Given the description of an element on the screen output the (x, y) to click on. 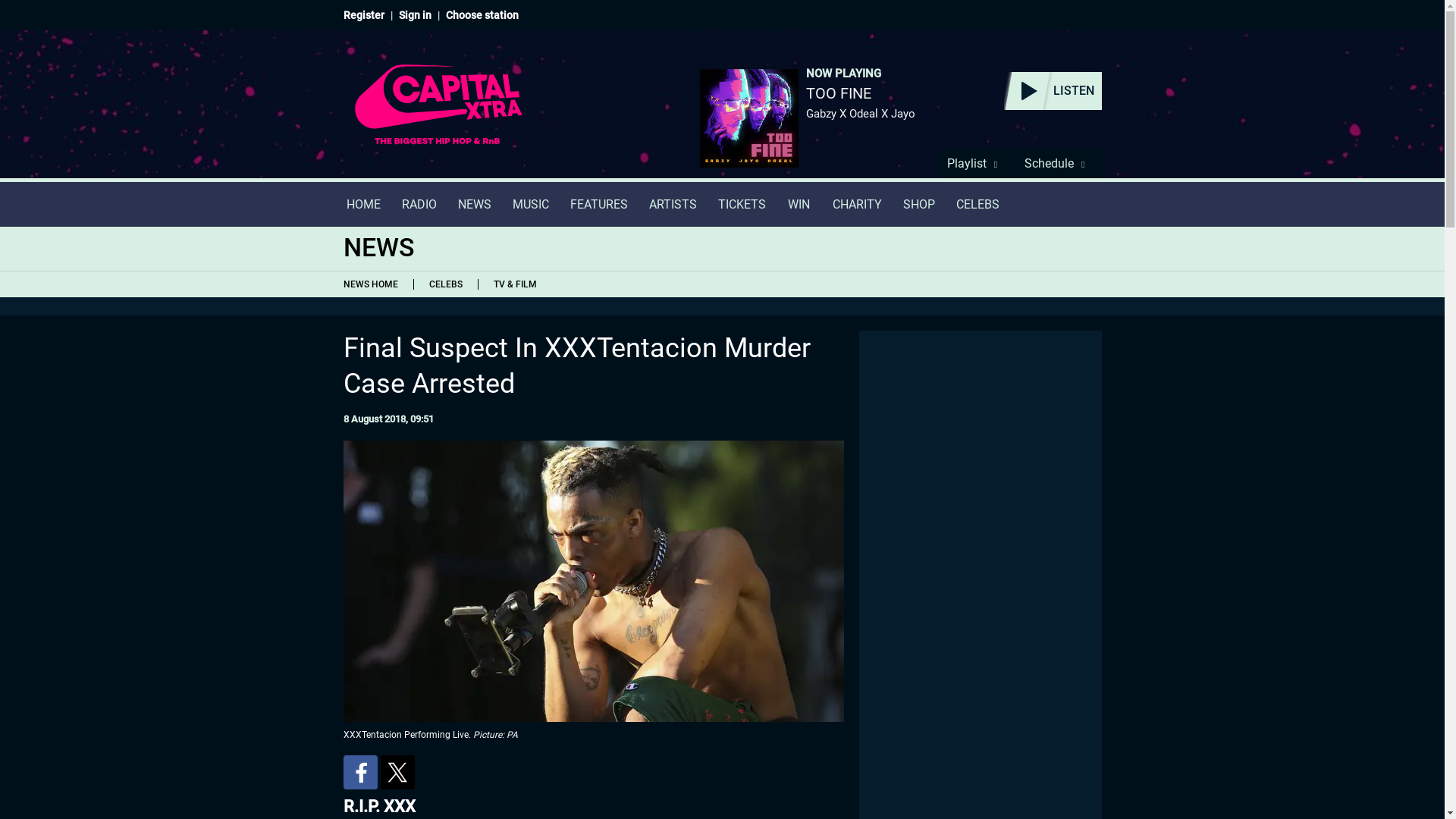
Choose station (481, 15)
WIN (799, 203)
Playlist (976, 163)
LISTEN (1053, 90)
NEWS HOME (373, 284)
MUSIC (530, 203)
TICKETS (741, 203)
Register (363, 15)
RADIO (418, 203)
Schedule (1058, 163)
NEWS (474, 203)
FEATURES (599, 203)
Capital XTRA (437, 113)
Sign in (414, 15)
SHOP (917, 203)
